Given the description of an element on the screen output the (x, y) to click on. 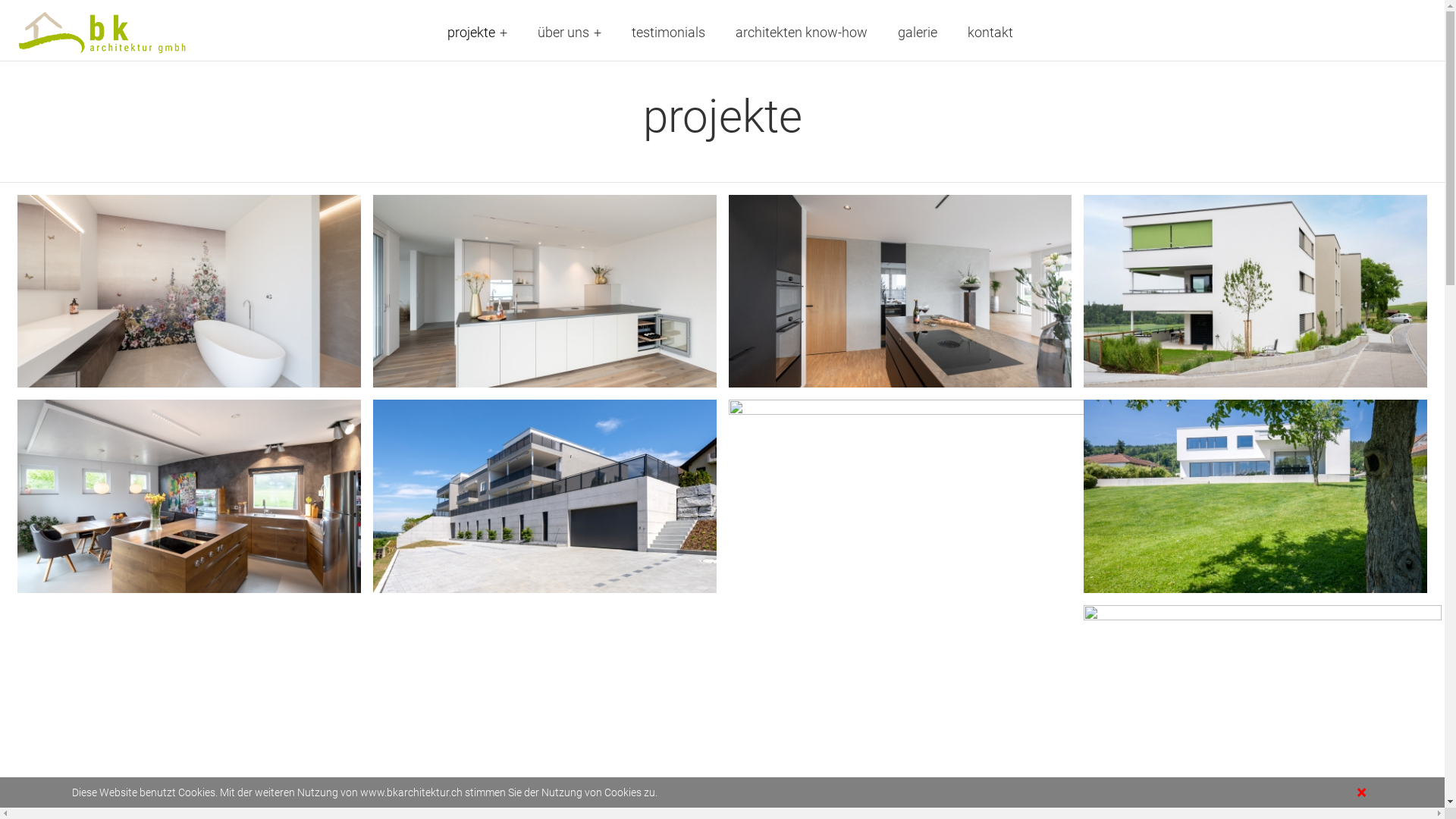
impressum Element type: text (749, 792)
Direkt zum Inhalt Element type: text (0, 0)
anfahrt Element type: text (661, 792)
downloads Element type: text (848, 792)
Startseite Element type: hover (107, 30)
kontakt Element type: text (990, 30)
projekte Element type: text (477, 30)
galerie Element type: text (917, 30)
architekten know-how Element type: text (801, 30)
glossar Element type: text (584, 792)
testimonials Element type: text (668, 30)
